Given the description of an element on the screen output the (x, y) to click on. 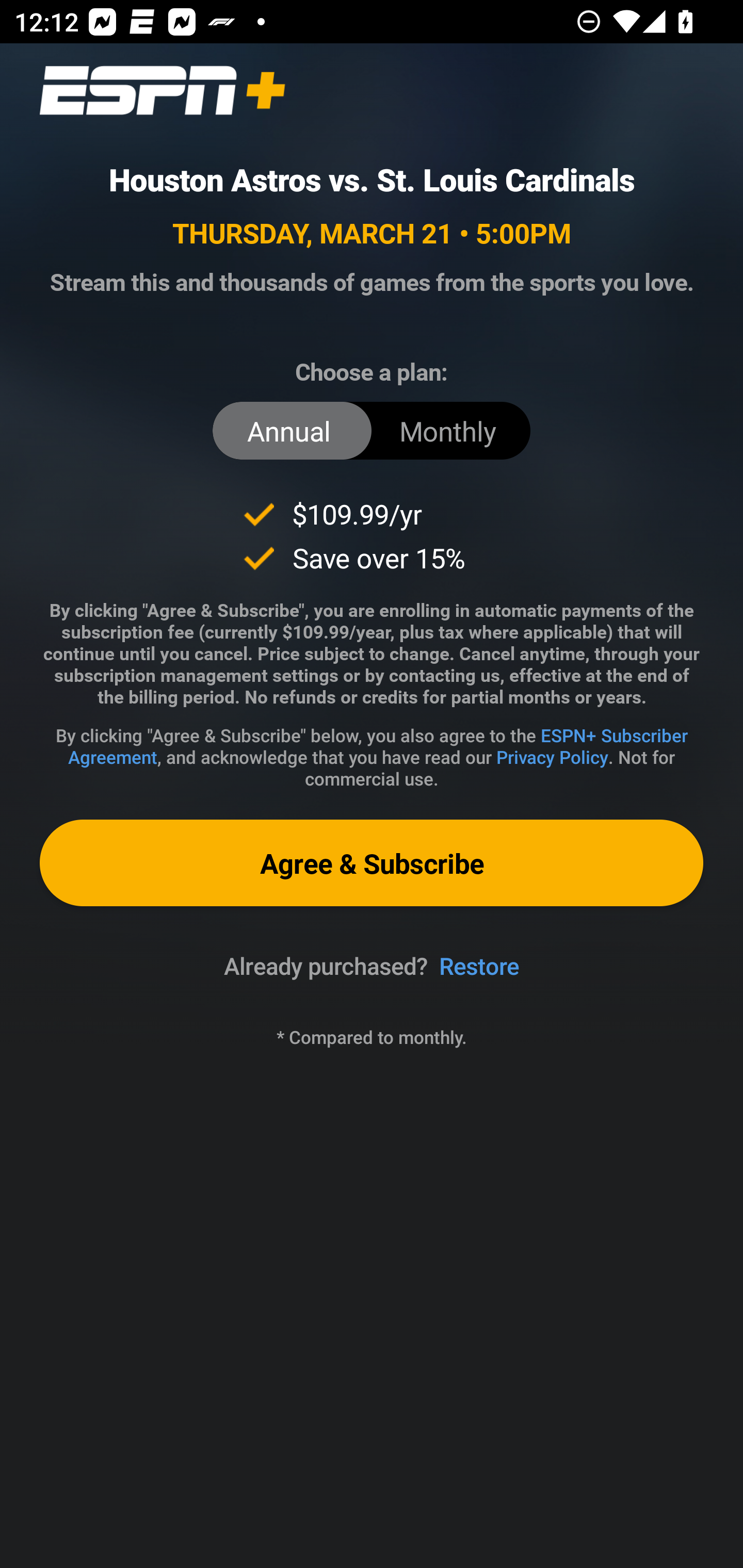
Agree & Subscribe (371, 863)
